Given the description of an element on the screen output the (x, y) to click on. 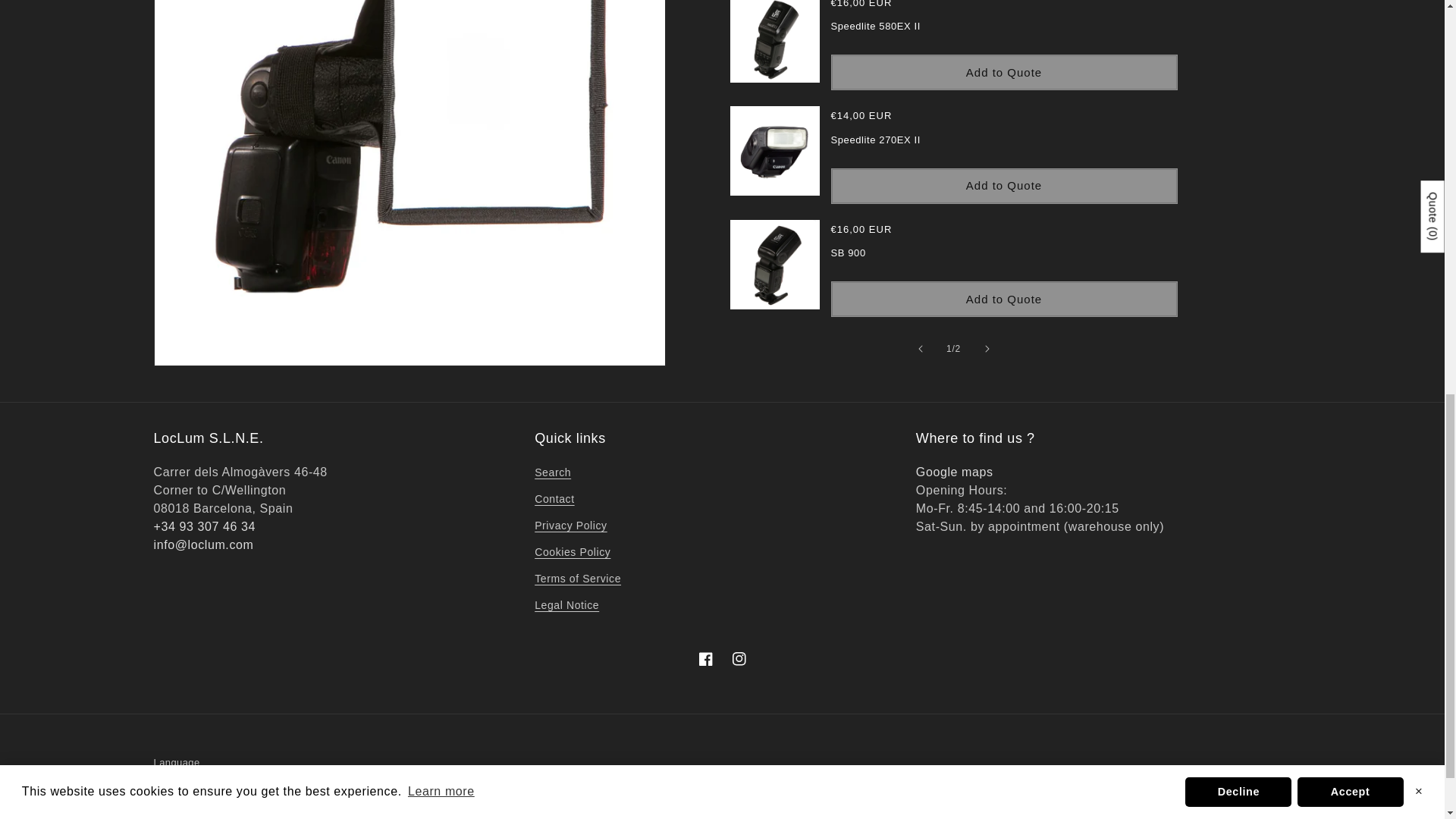
Google map (953, 472)
